Given the description of an element on the screen output the (x, y) to click on. 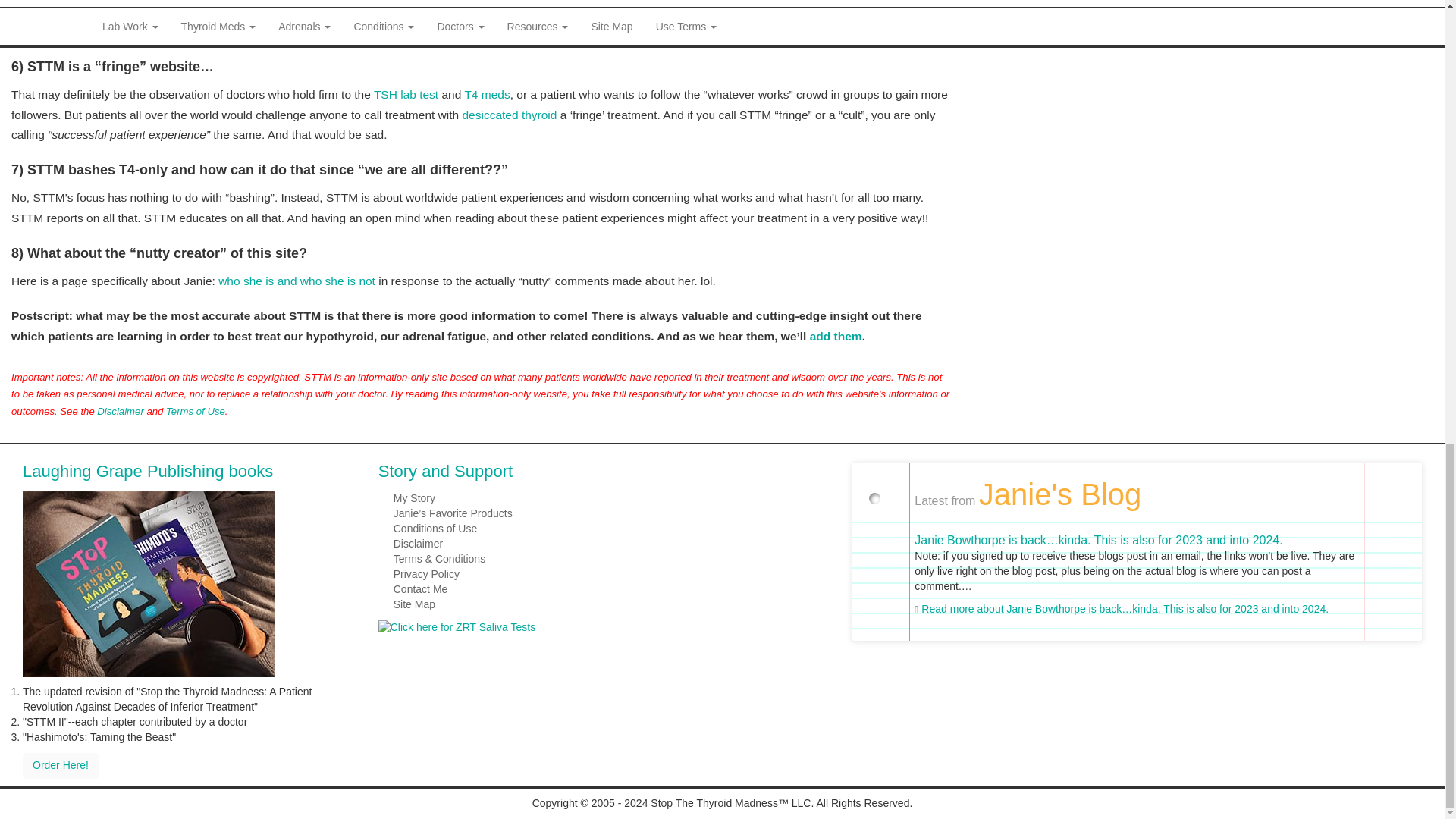
Laughing Grape Publishing (149, 582)
